Given the description of an element on the screen output the (x, y) to click on. 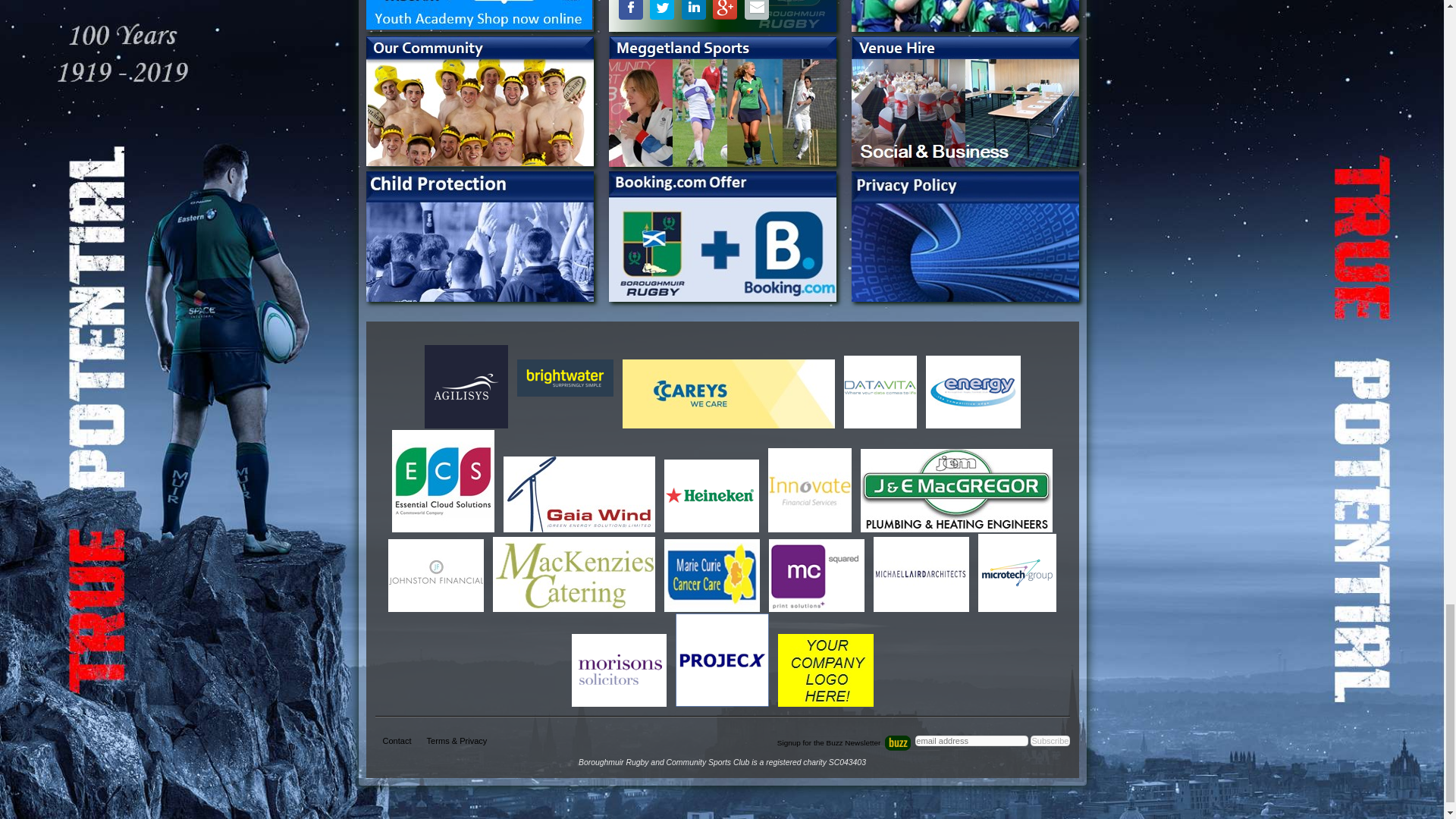
Subscribe (1049, 740)
